Given the description of an element on the screen output the (x, y) to click on. 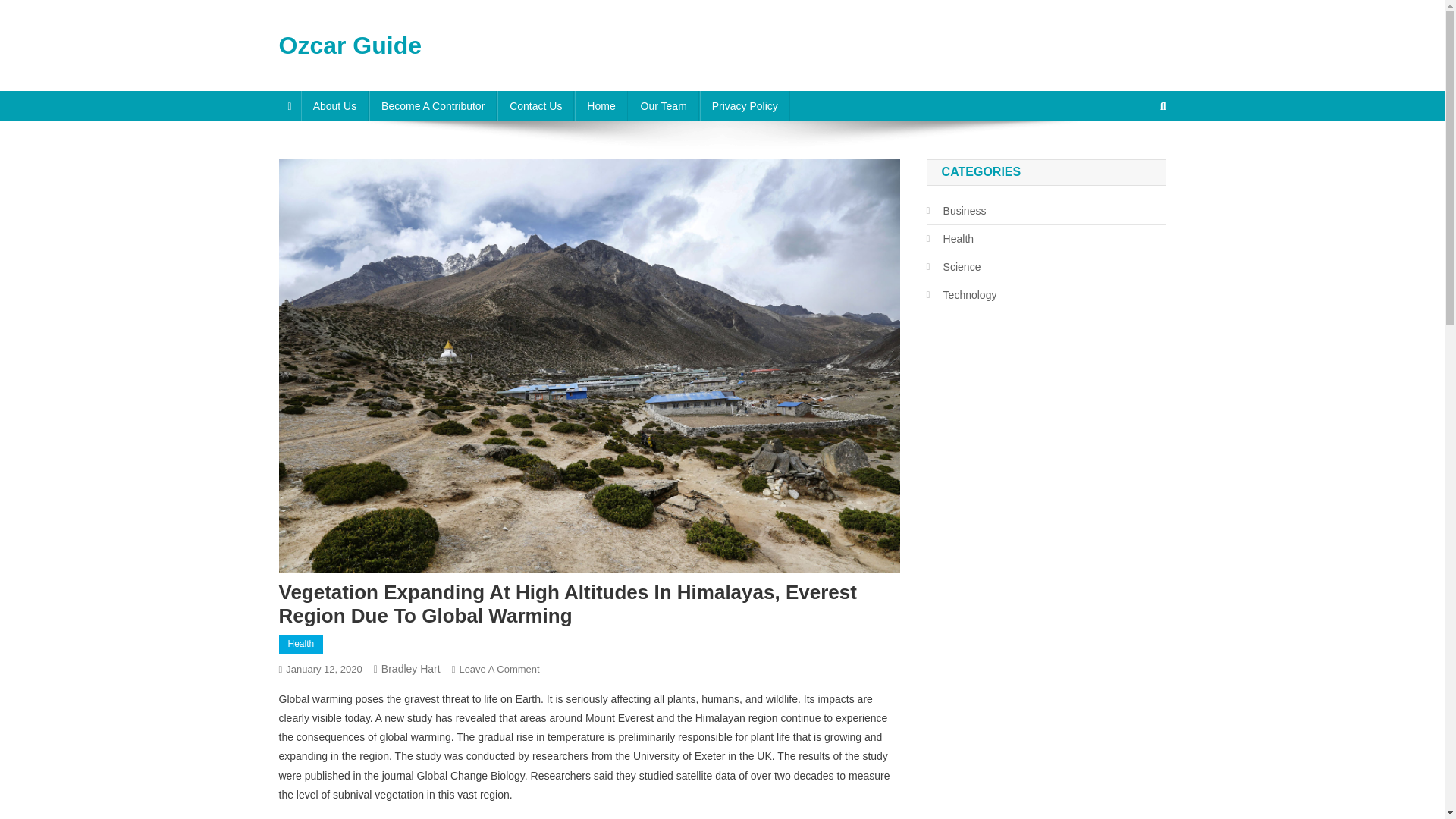
Ozcar Guide (350, 44)
Search (1133, 156)
Science (953, 266)
Health (950, 238)
Privacy Policy (745, 105)
Health (301, 644)
Bradley Hart (411, 668)
Contact Us (535, 105)
Technology (961, 294)
